Given the description of an element on the screen output the (x, y) to click on. 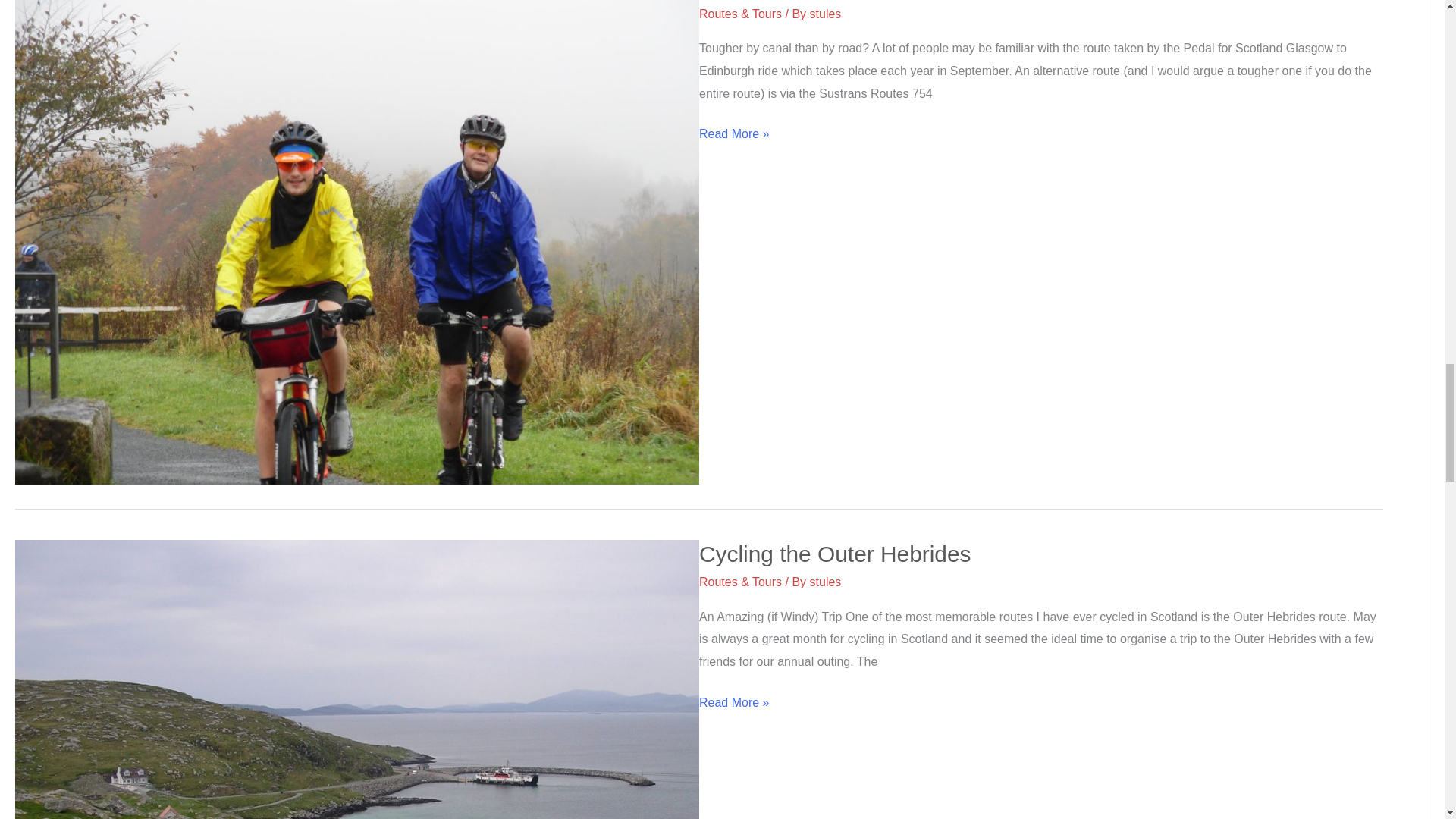
stules (825, 13)
View all posts by stules (825, 581)
View all posts by stules (825, 13)
